Given the description of an element on the screen output the (x, y) to click on. 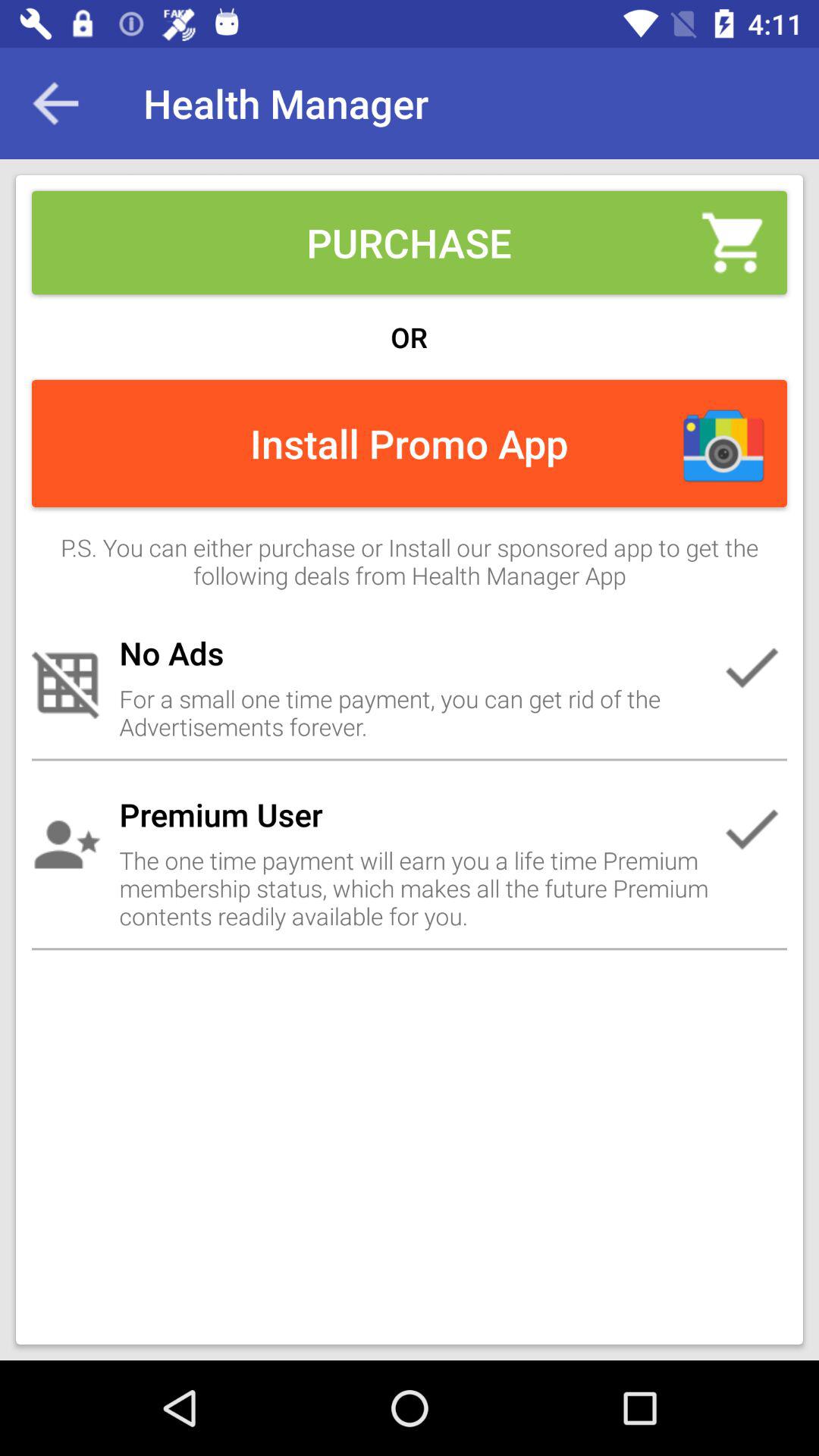
select item to the left of the health manager app (55, 103)
